Given the description of an element on the screen output the (x, y) to click on. 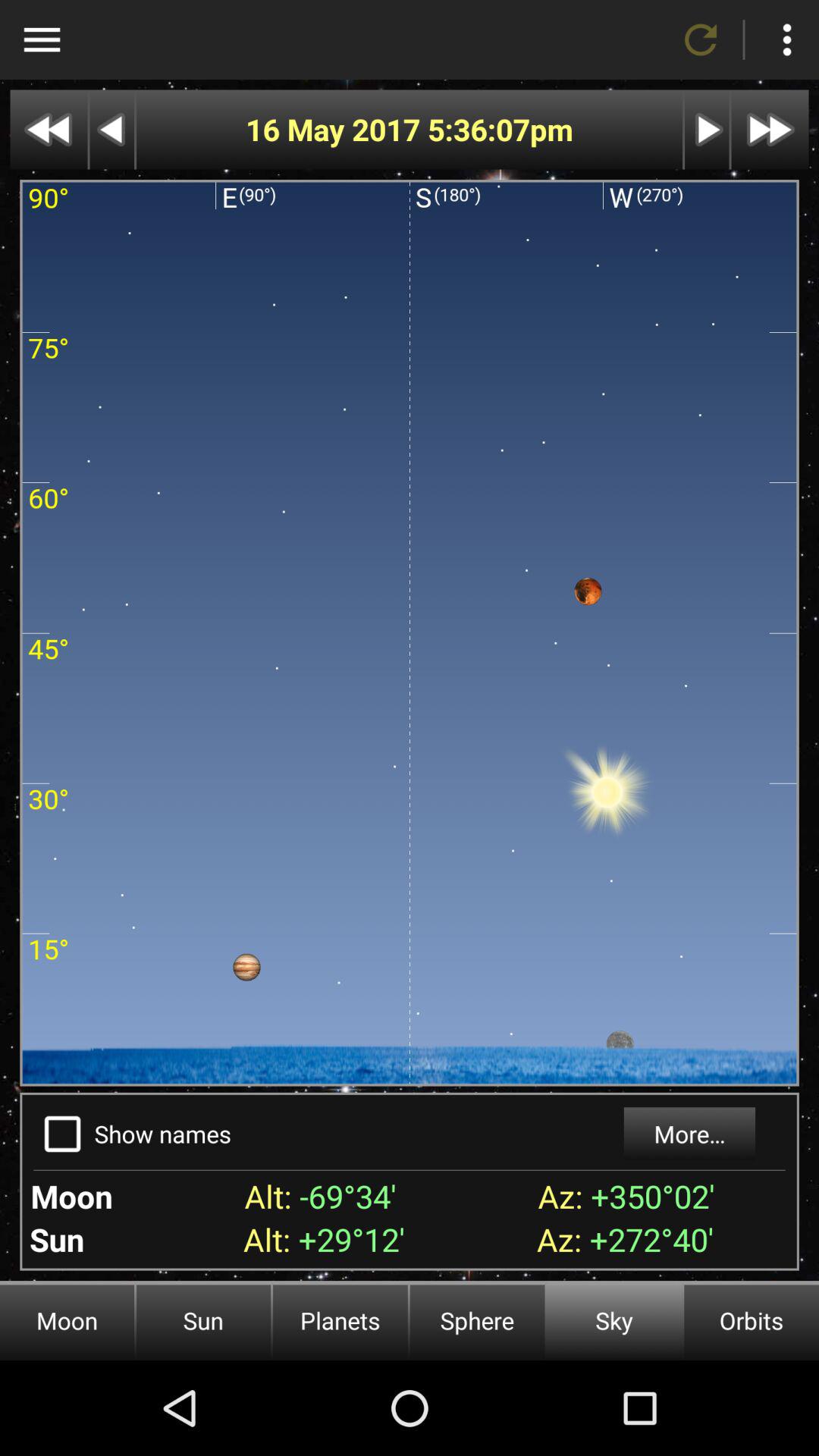
click the icon to the left of the pm app (478, 129)
